Given the description of an element on the screen output the (x, y) to click on. 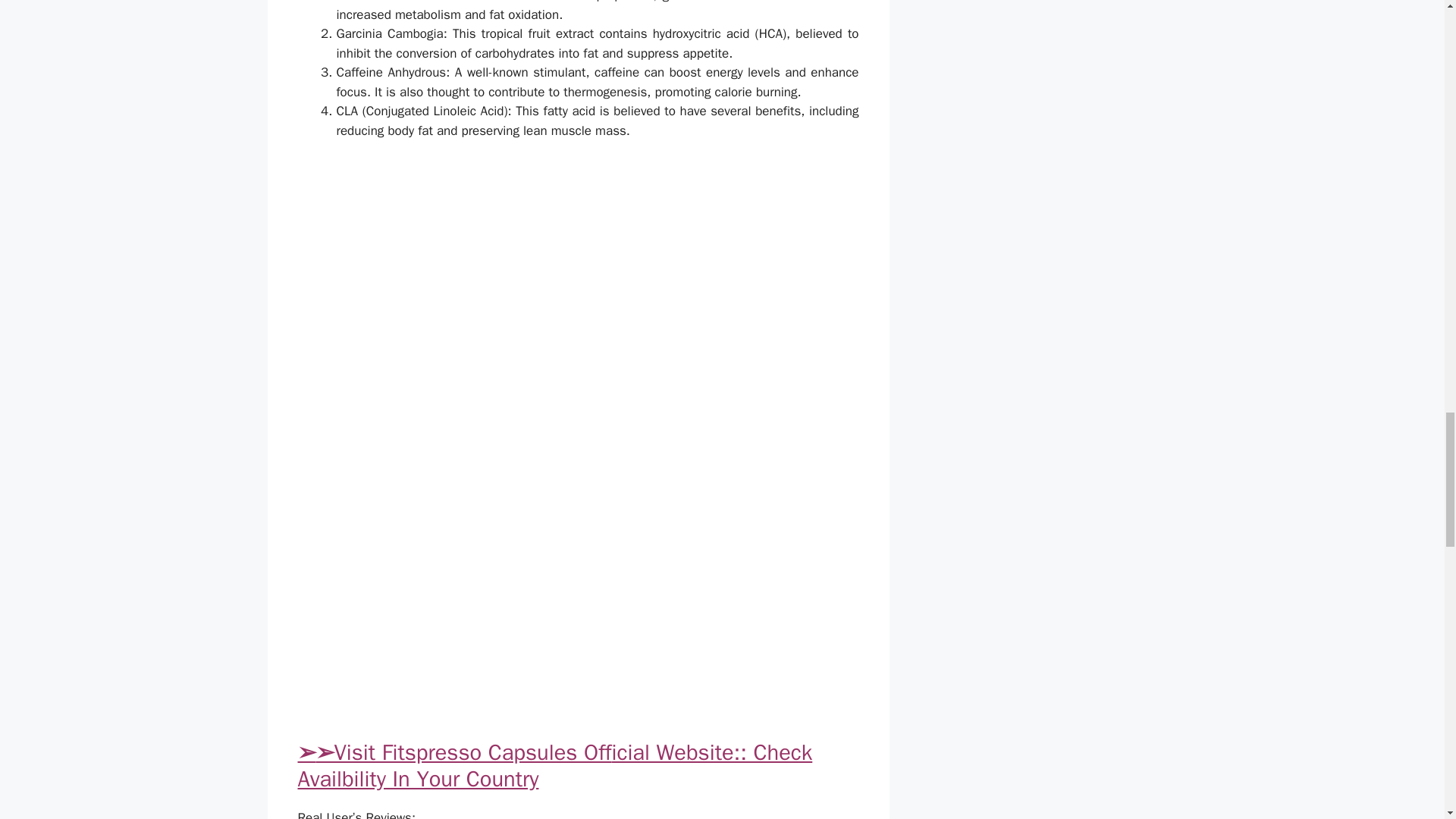
icial Website:: Check Availbility In Your Country (554, 765)
